Given the description of an element on the screen output the (x, y) to click on. 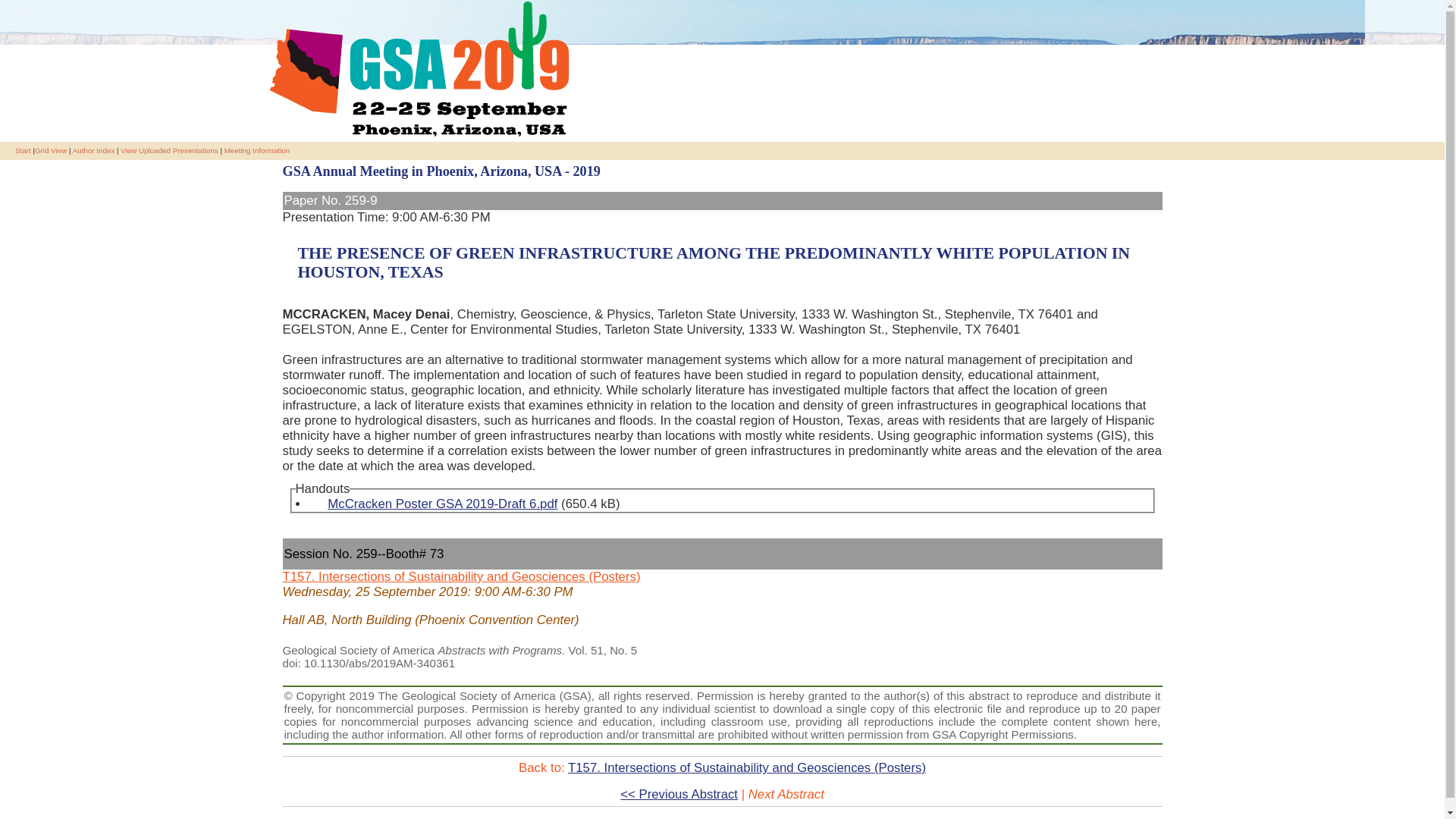
McCracken Poster GSA 2019-Draft 6.pdf (435, 511)
Grid View (50, 150)
View Uploaded Presentations (168, 150)
Start (22, 150)
Author Index (93, 150)
Meeting Information (256, 150)
